Given the description of an element on the screen output the (x, y) to click on. 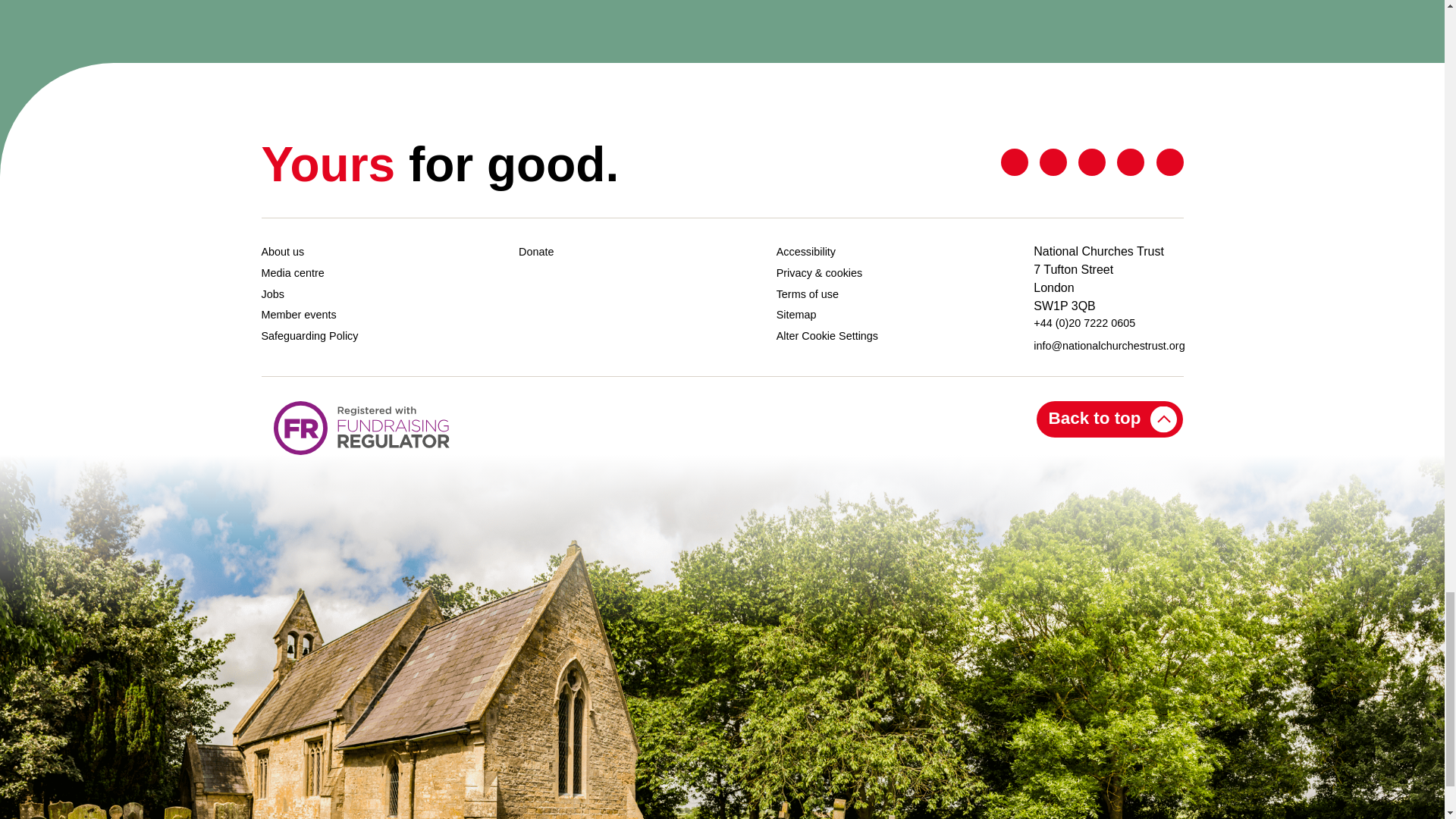
Linkedin (1091, 162)
Youtube (1130, 162)
Twitter (1014, 162)
Facebook (1052, 162)
Instagram (1168, 162)
